Given the description of an element on the screen output the (x, y) to click on. 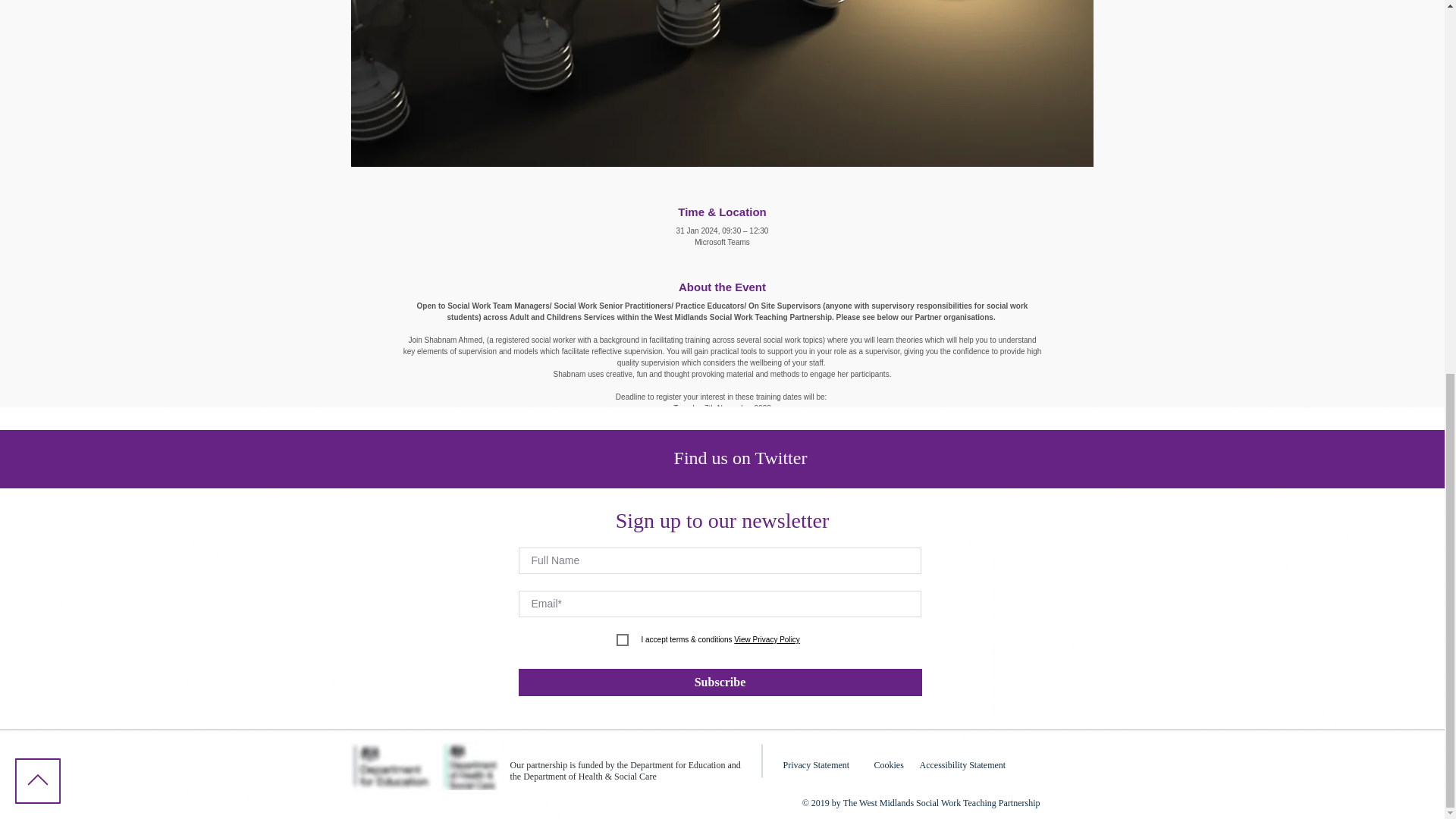
Subscribe (719, 682)
Find us on Twitter (741, 457)
View Privacy Policy (765, 639)
